Given the description of an element on the screen output the (x, y) to click on. 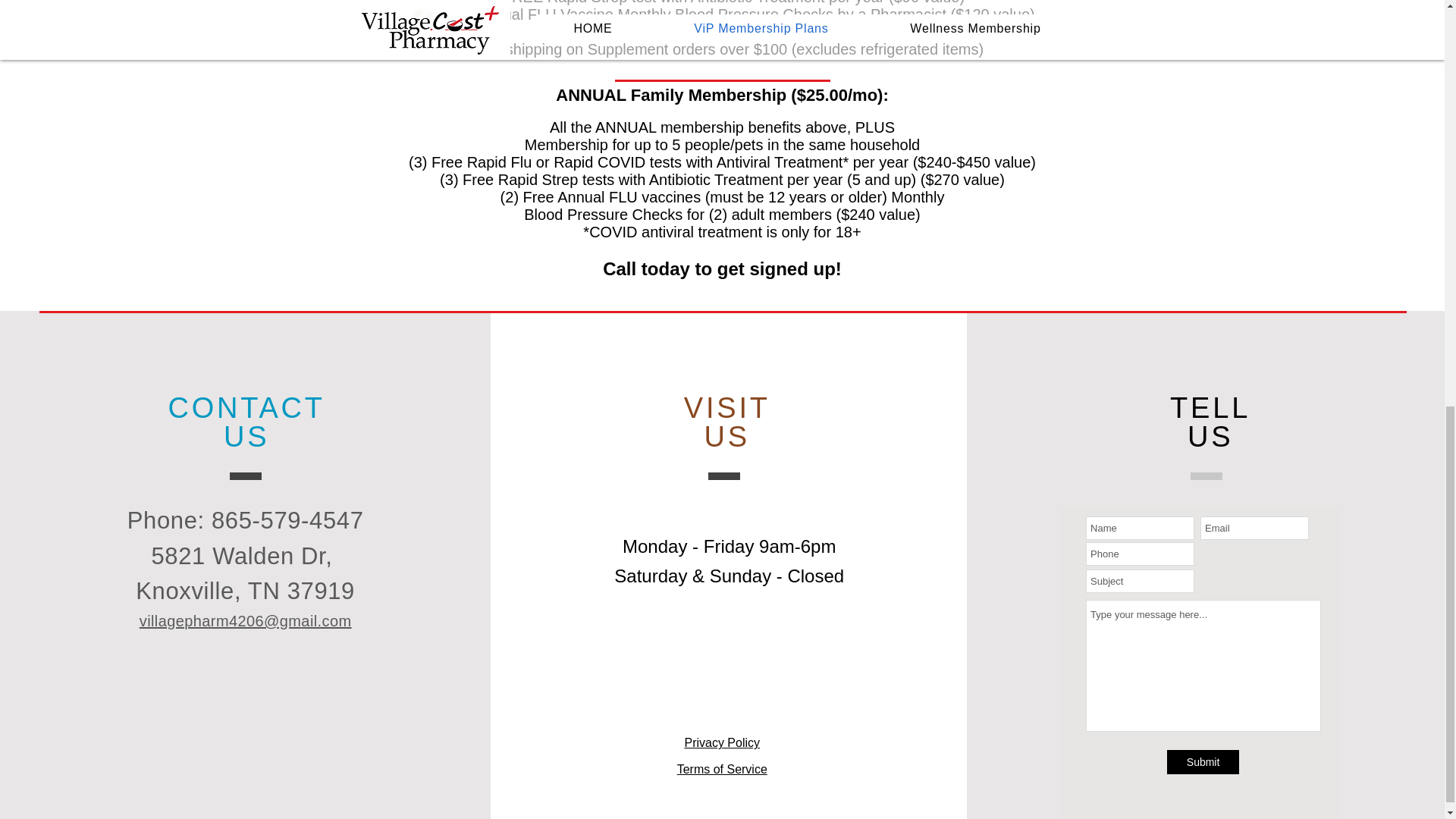
Submit (1203, 761)
Privacy Policy (722, 742)
Terms of Service (722, 768)
